Given the description of an element on the screen output the (x, y) to click on. 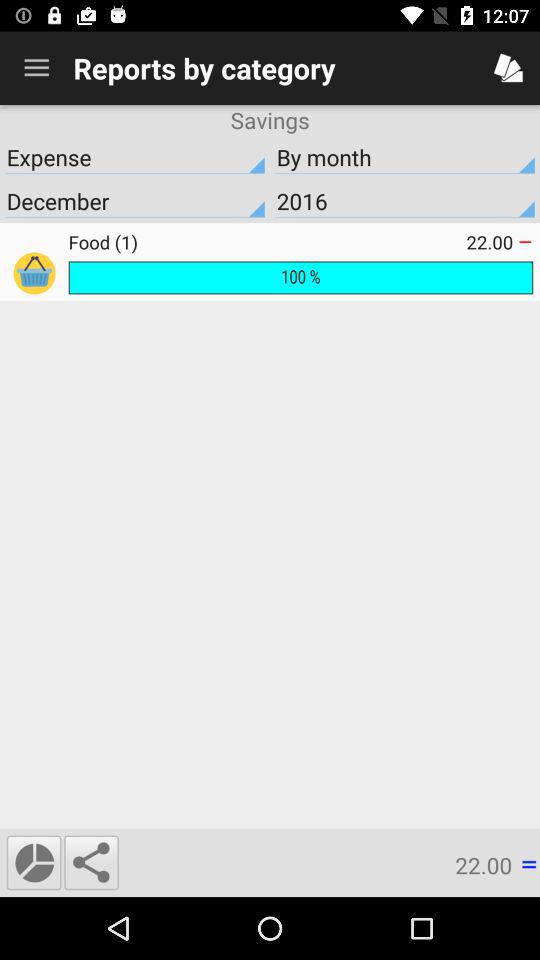
turn on the item below the food (1) item (300, 277)
